Given the description of an element on the screen output the (x, y) to click on. 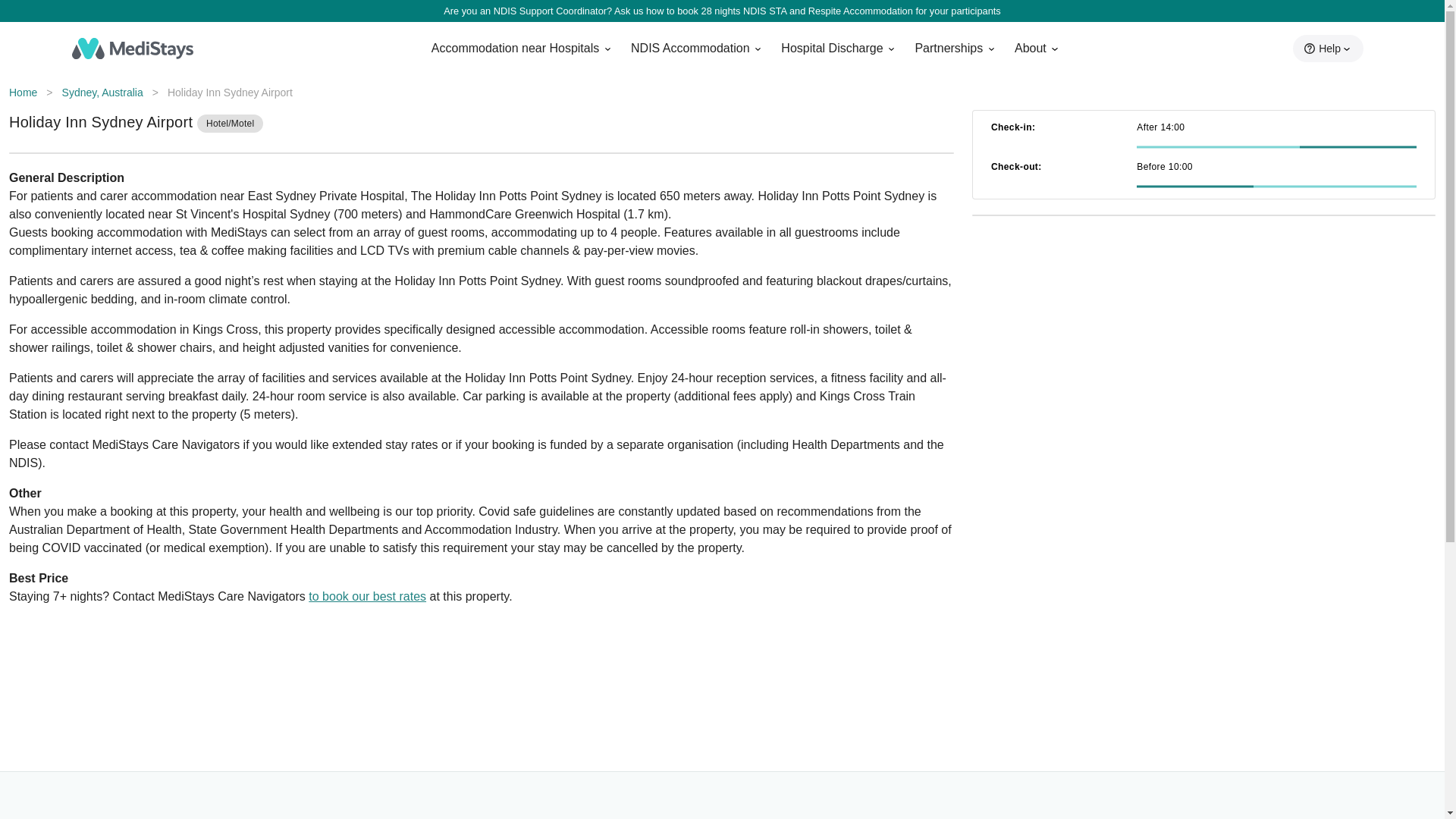
Accommodation near Hospitals (515, 48)
Hospital Discharge (831, 48)
About (1030, 48)
NDIS Accommodation (690, 48)
Partnerships (948, 48)
